Given the description of an element on the screen output the (x, y) to click on. 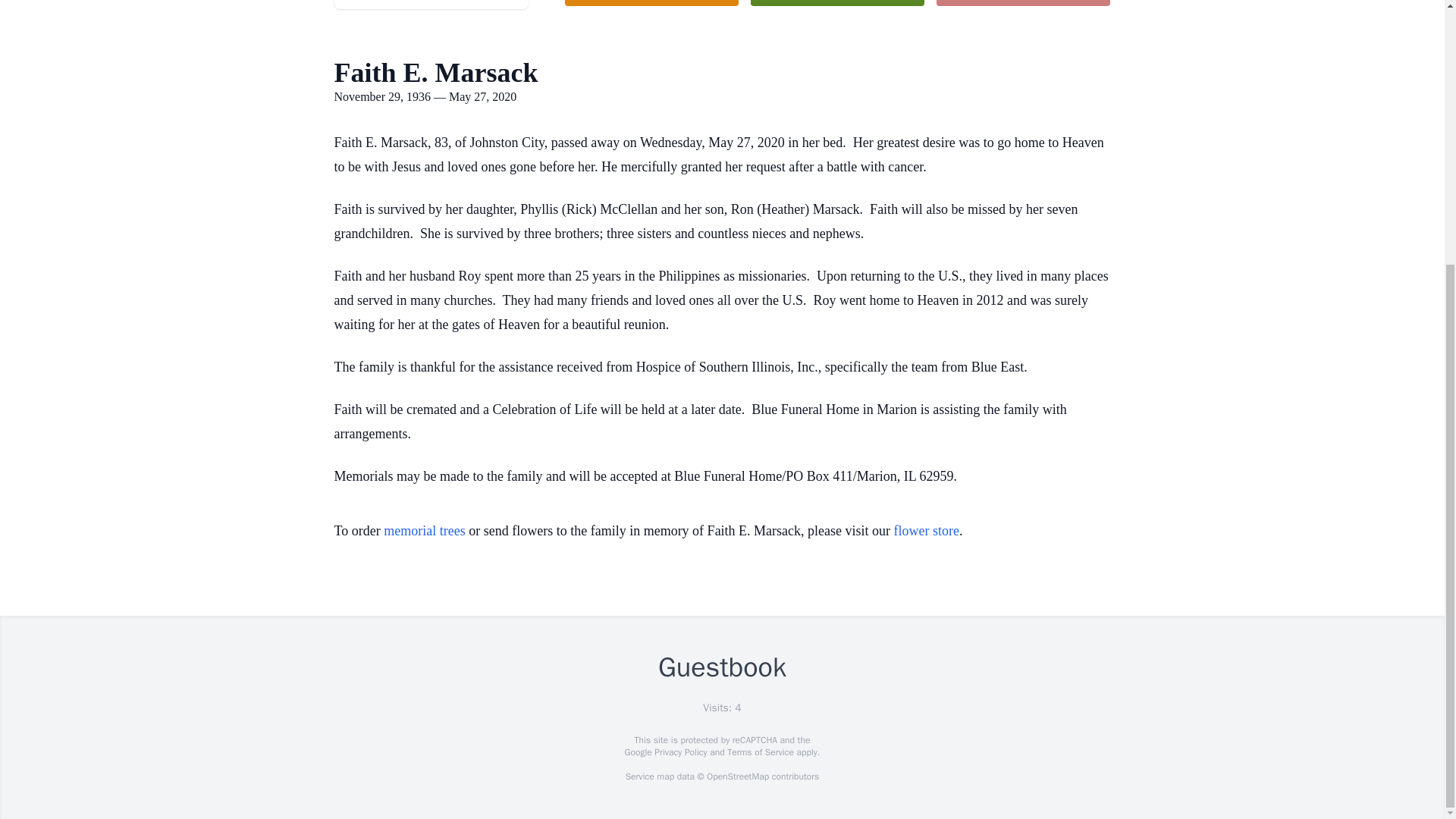
Terms of Service (759, 752)
Privacy Policy (679, 752)
SEND FLOWERS (651, 2)
memorial trees (424, 530)
flower store (926, 530)
PLANT A TREE (837, 2)
SEND A GIFT (1022, 2)
OpenStreetMap (737, 776)
